Given the description of an element on the screen output the (x, y) to click on. 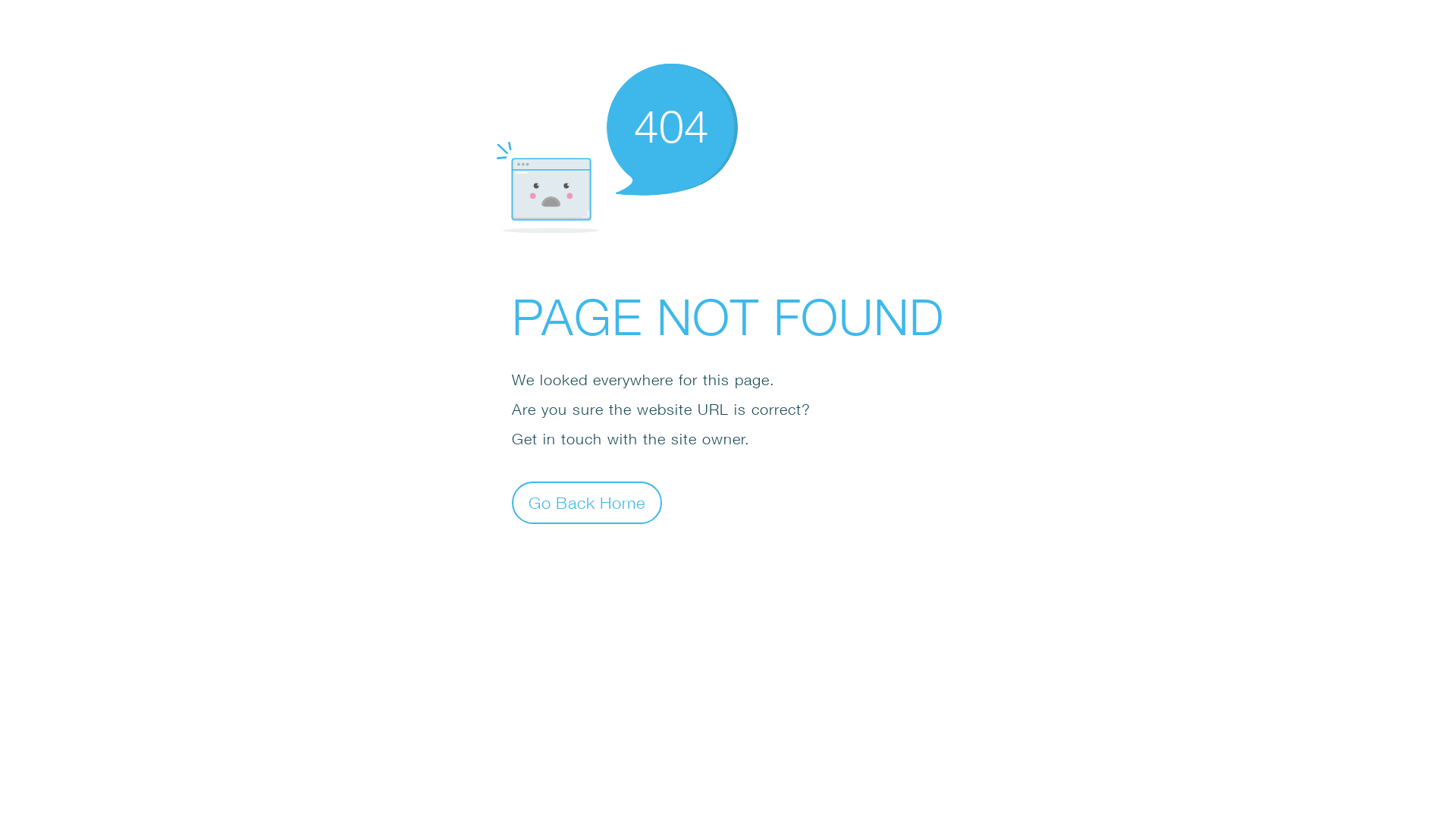
Go Back Home Element type: text (586, 502)
